Given the description of an element on the screen output the (x, y) to click on. 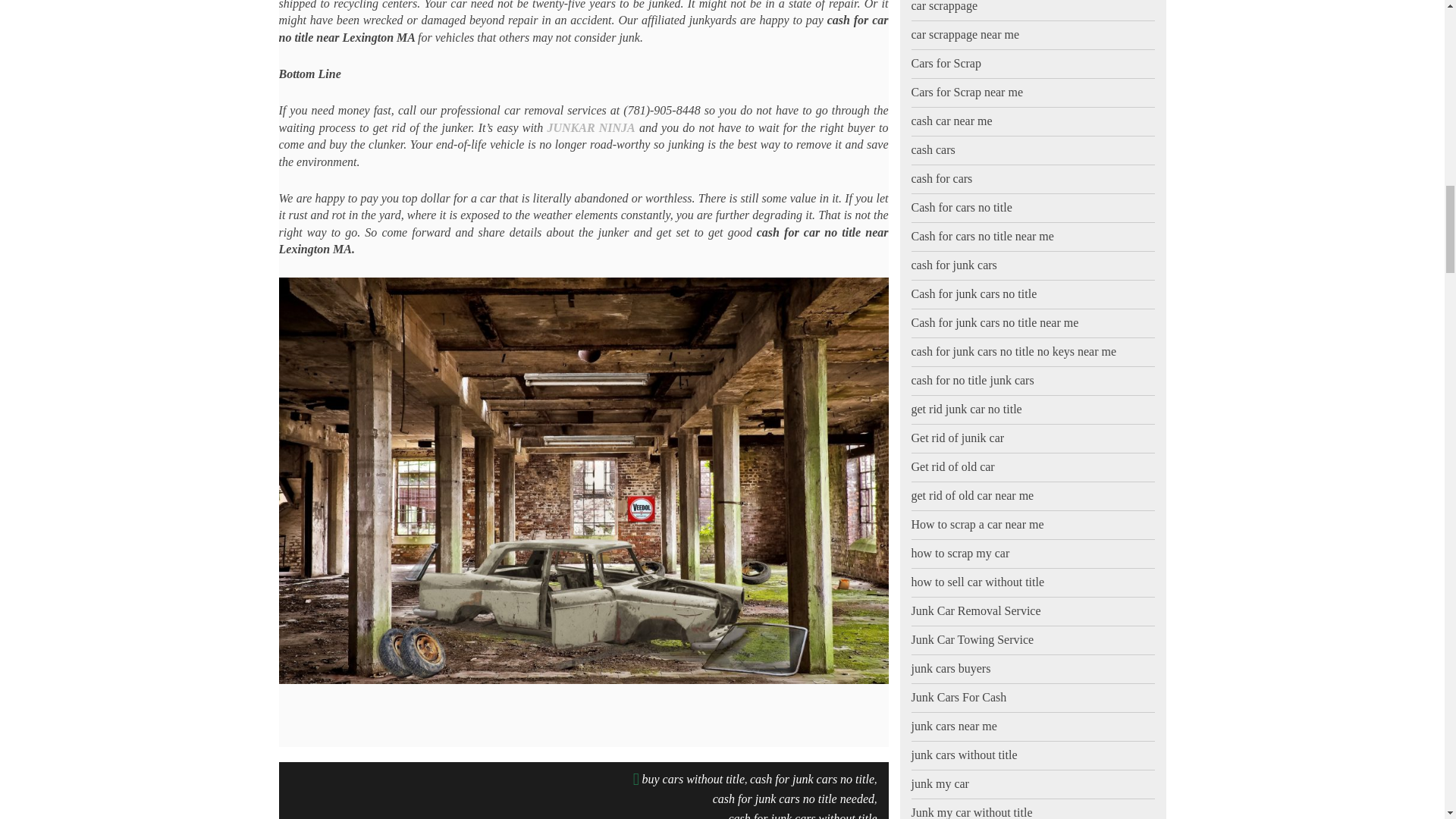
cash for junk cars no title (812, 779)
cash for junk cars no title Tag (812, 779)
cash for junk cars without title Tag (802, 813)
cash for junk cars without title (802, 813)
JUNKAR NINJA (590, 127)
cash for junk cars no title needed Tag (794, 799)
cash for junk cars no title needed (794, 799)
buy cars without title (693, 779)
buy cars without title Tag (693, 779)
